Given the description of an element on the screen output the (x, y) to click on. 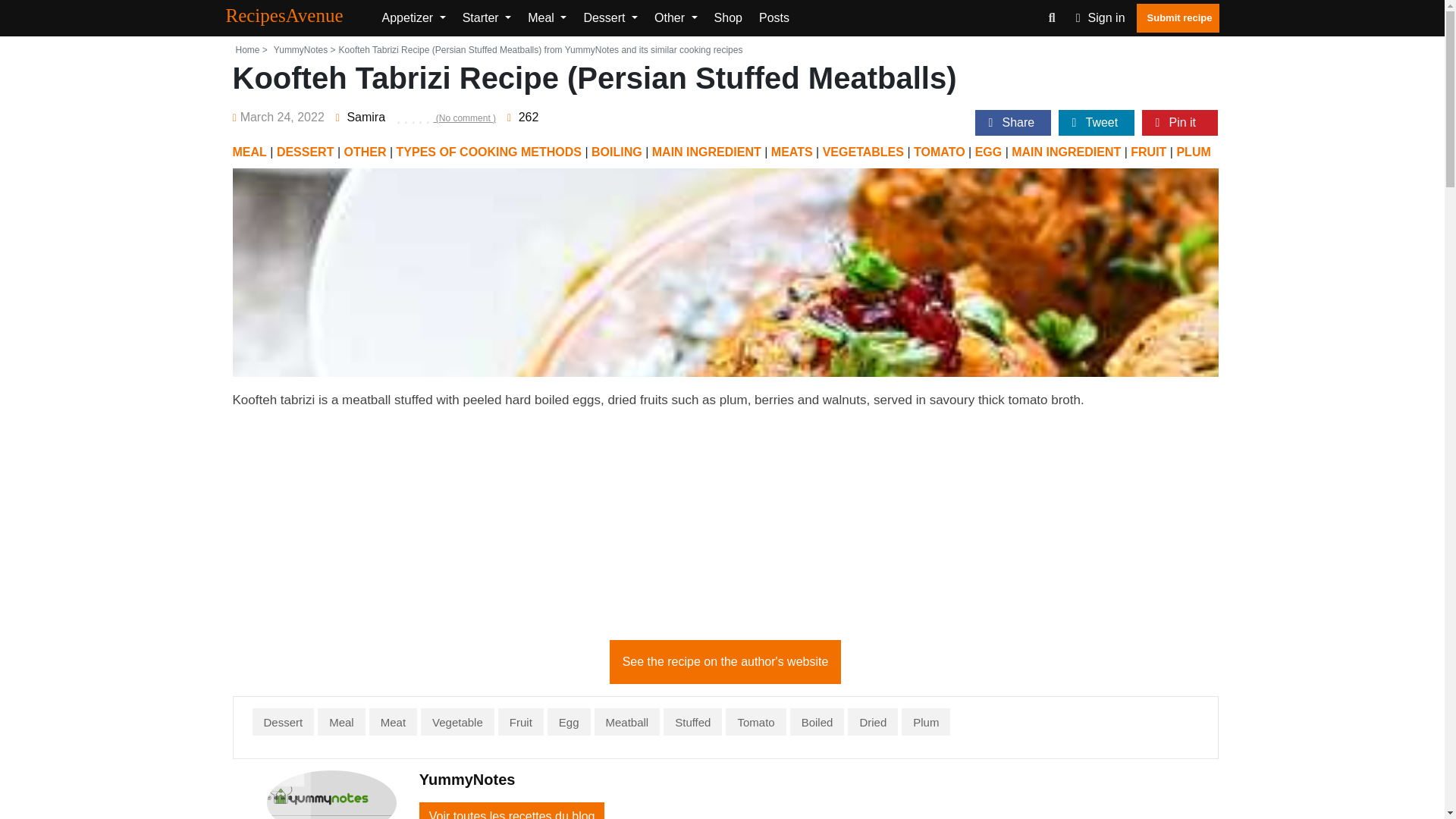
RecipesAvenue (297, 16)
Meal (546, 18)
Starter (487, 18)
Appetizer (413, 18)
